Given the description of an element on the screen output the (x, y) to click on. 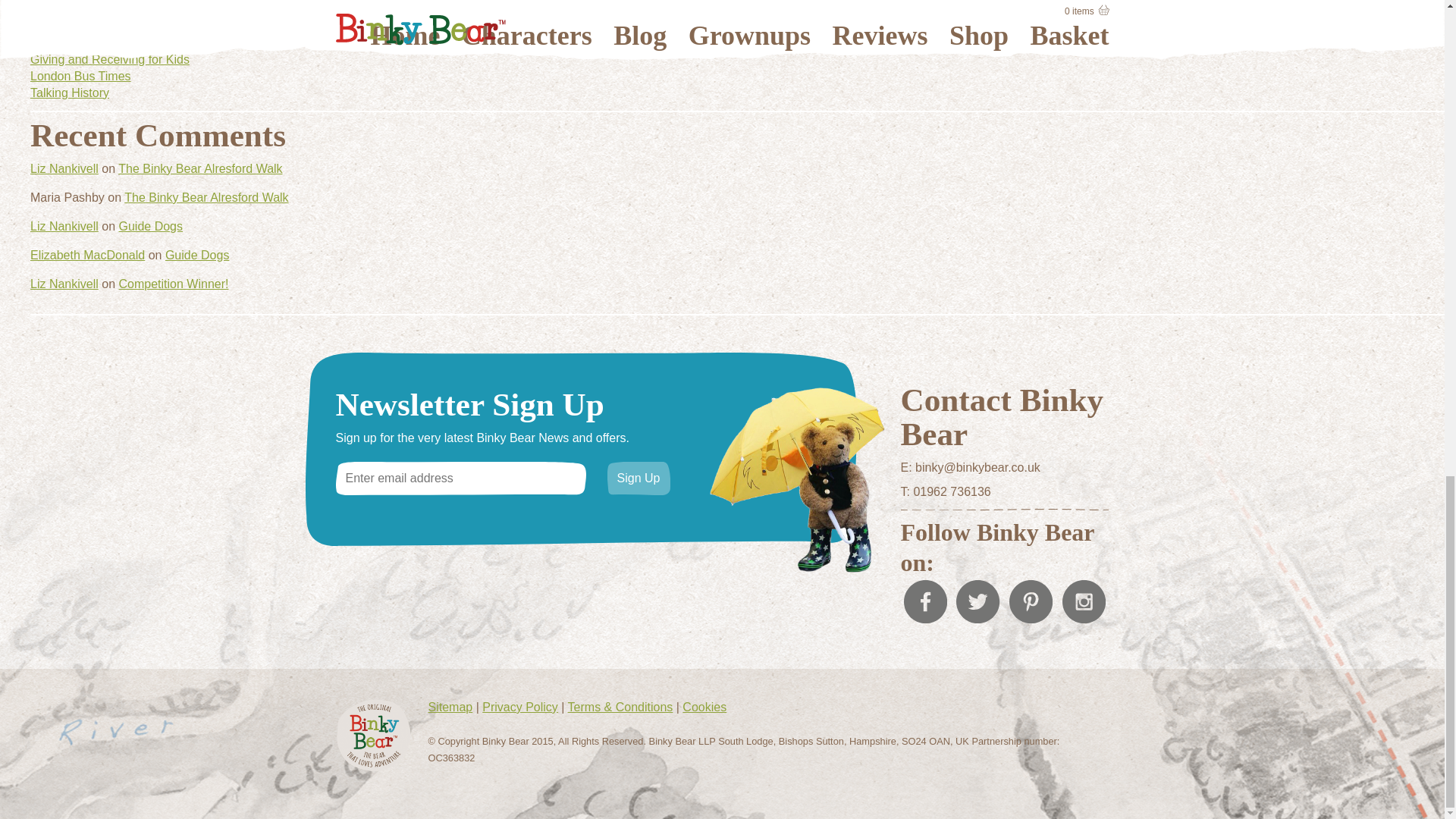
Competition Winner! (172, 283)
The Binky Bear Alresford Walk (199, 168)
Sign Up (638, 478)
Liz Nankivell (64, 168)
Giving and Receiving for Kids (109, 59)
The Binky Bear Alresford Walk (205, 196)
Liz Nankivell (64, 283)
The Importance of Bees (95, 42)
Sign Up (638, 478)
Liz Nankivell (64, 226)
Guide Dogs (197, 254)
Guide Dogs (150, 226)
Elizabeth MacDonald (87, 254)
Valentines (57, 25)
Talking History (69, 92)
